Given the description of an element on the screen output the (x, y) to click on. 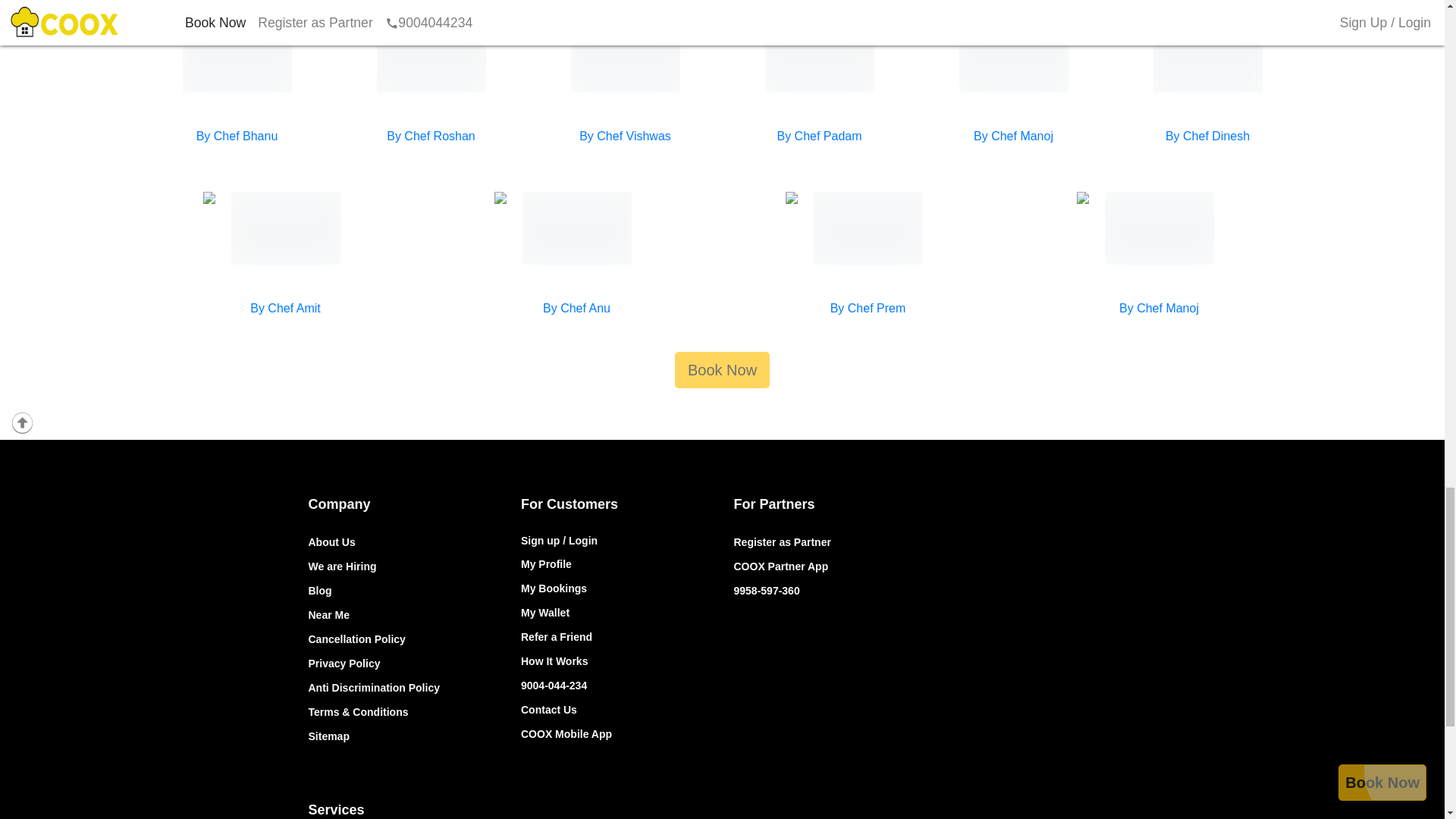
By Chef Prem (867, 308)
By Chef Roshan (431, 135)
By Chef Amit (285, 308)
By Chef Bhanu (237, 135)
By Chef Padam (818, 135)
About Us (331, 541)
Book Now (722, 370)
Near Me (328, 614)
We are Hiring (341, 566)
By Chef Manoj (1158, 308)
By Chef Dinesh (1207, 135)
By Chef Anu (576, 308)
Blog (319, 590)
By Chef Manoj (1013, 135)
By Chef Vishwas (625, 135)
